Given the description of an element on the screen output the (x, y) to click on. 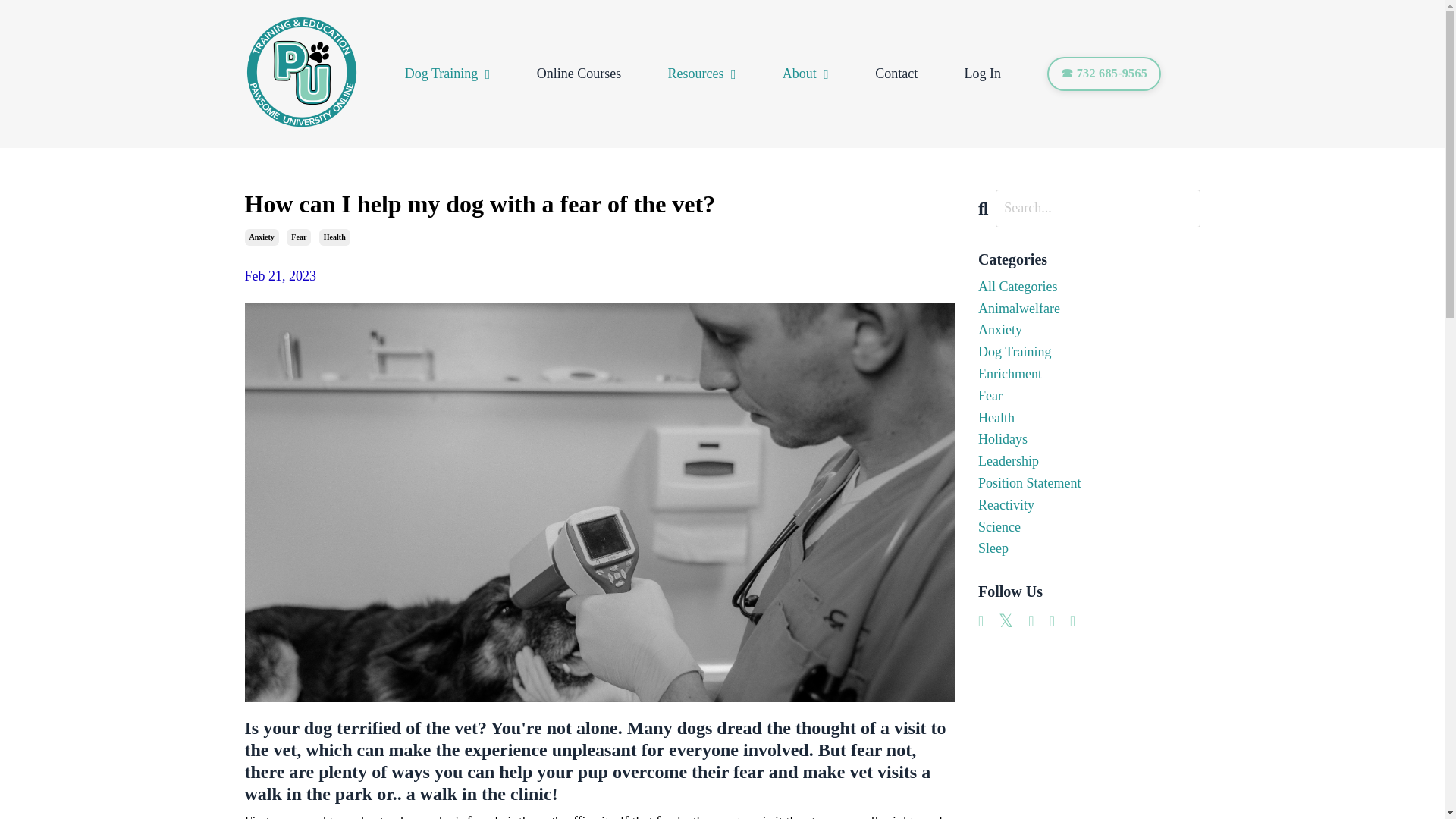
About (805, 74)
Reactivity (1088, 505)
Health (1088, 418)
Position Statement (1088, 483)
Fear (298, 237)
Online Courses (579, 74)
Resources (700, 74)
Enrichment (1088, 373)
Dog Training (447, 74)
Leadership (1088, 461)
Anxiety (261, 237)
Fear (1088, 395)
Contact (896, 74)
Holidays (1088, 439)
Animalwelfare (1088, 309)
